Given the description of an element on the screen output the (x, y) to click on. 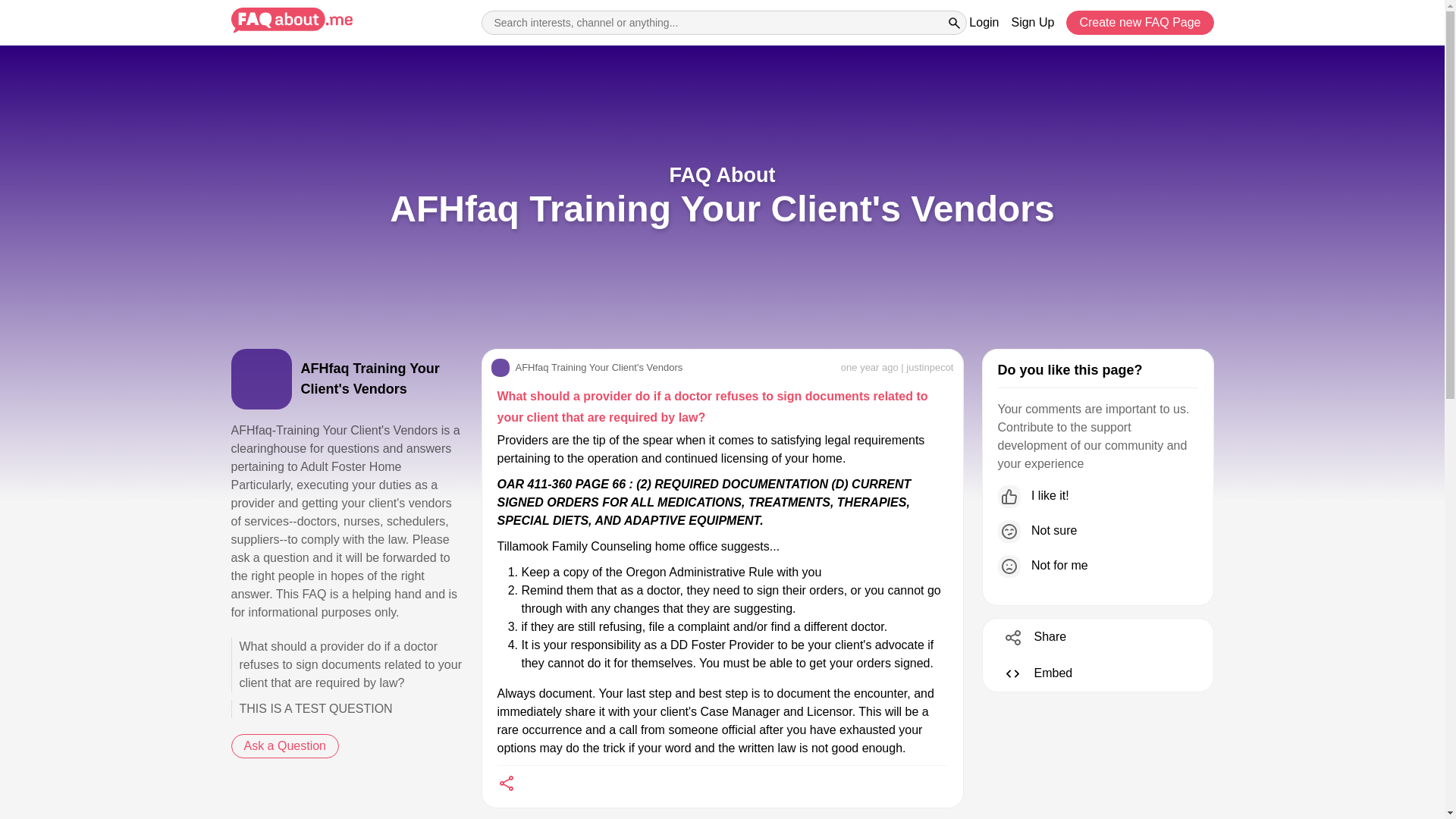
Share (1029, 637)
Not for me (1097, 566)
Login (983, 22)
Embed (1032, 673)
Search (954, 22)
Search interests, channel or anything... (723, 22)
Sign Up (1032, 22)
THIS IS A TEST QUESTION (346, 709)
Create new FAQ Page (1138, 22)
